Given the description of an element on the screen output the (x, y) to click on. 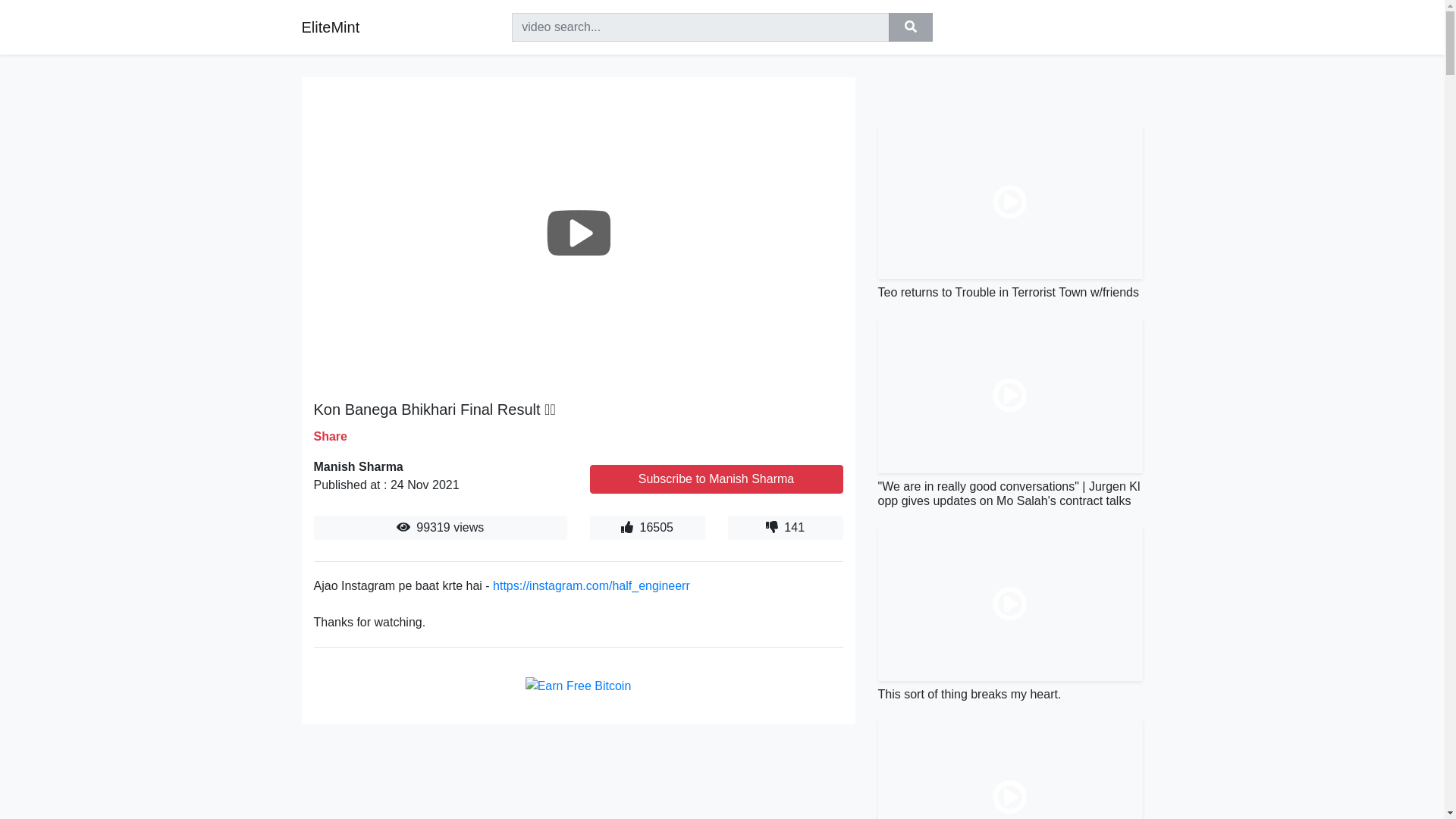
Subscribe to Manish Sharma (716, 479)
Join Cointiply to Earn Free Bitcoin! (578, 686)
EliteMint (330, 27)
